Given the description of an element on the screen output the (x, y) to click on. 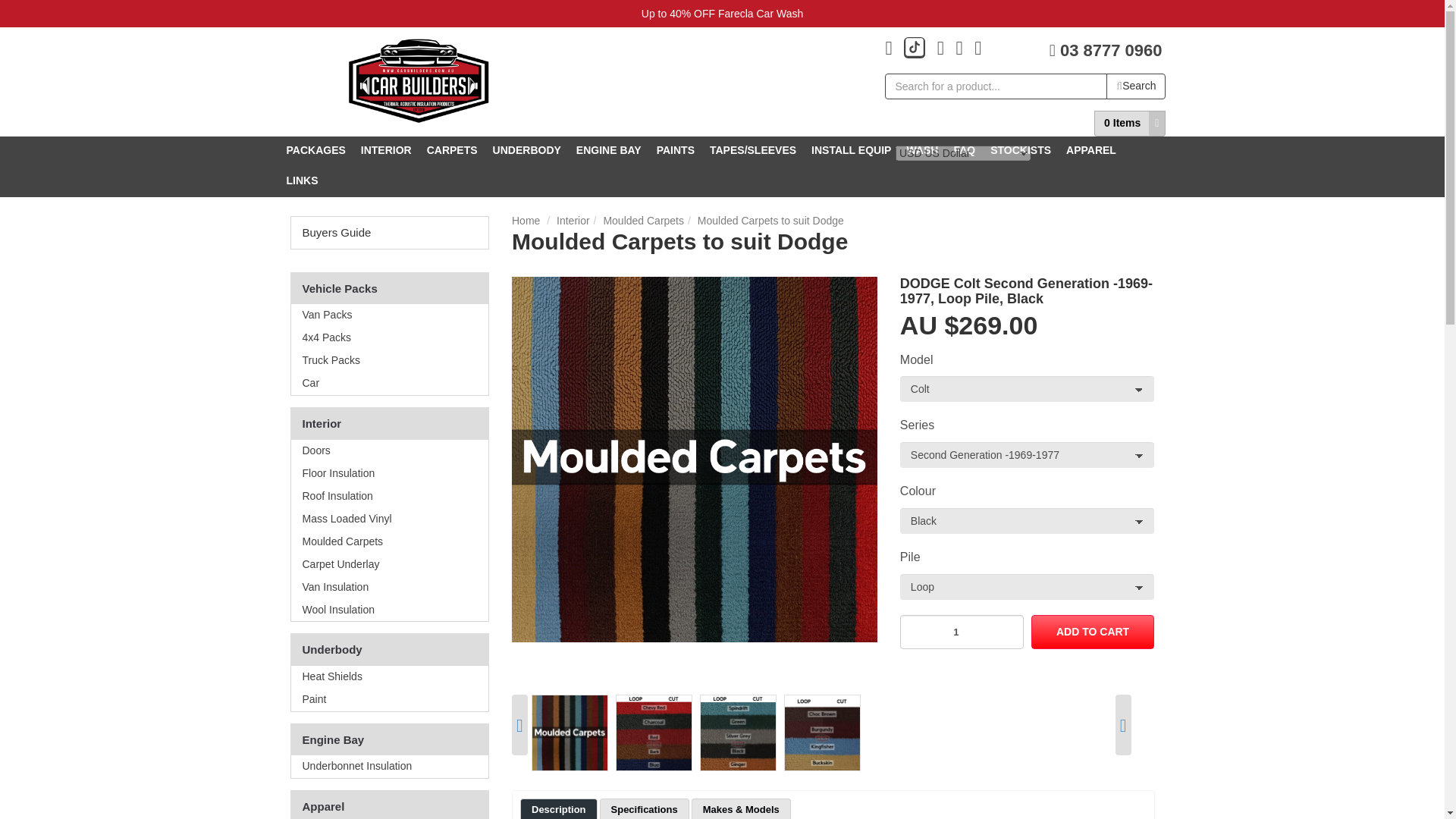
1 (961, 632)
03 8777 0960 (1105, 48)
Search (1136, 86)
Car Builders (419, 81)
PACKAGES (316, 151)
Add to Cart (1092, 632)
0 Items (1122, 123)
